Given the description of an element on the screen output the (x, y) to click on. 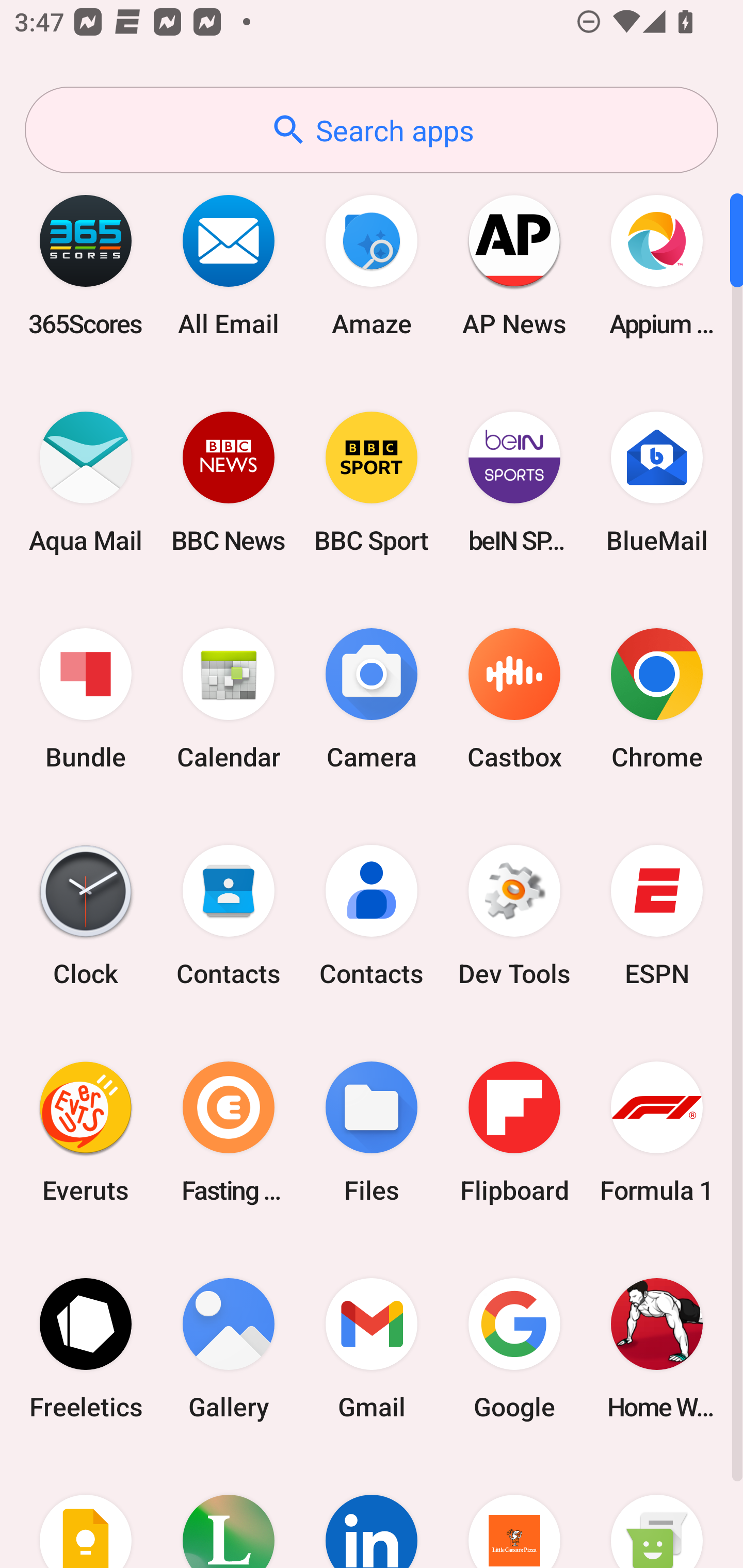
  Search apps (371, 130)
365Scores (85, 264)
All Email (228, 264)
Amaze (371, 264)
AP News (514, 264)
Appium Settings (656, 264)
Aqua Mail (85, 482)
BBC News (228, 482)
BBC Sport (371, 482)
beIN SPORTS (514, 482)
BlueMail (656, 482)
Bundle (85, 699)
Calendar (228, 699)
Camera (371, 699)
Castbox (514, 699)
Chrome (656, 699)
Clock (85, 915)
Contacts (228, 915)
Contacts (371, 915)
Dev Tools (514, 915)
ESPN (656, 915)
Everuts (85, 1131)
Fasting Coach (228, 1131)
Files (371, 1131)
Flipboard (514, 1131)
Formula 1 (656, 1131)
Freeletics (85, 1348)
Gallery (228, 1348)
Gmail (371, 1348)
Google (514, 1348)
Home Workout (656, 1348)
Keep Notes (85, 1512)
Lifesum (228, 1512)
LinkedIn (371, 1512)
Little Caesars Pizza (514, 1512)
Messaging (656, 1512)
